Given the description of an element on the screen output the (x, y) to click on. 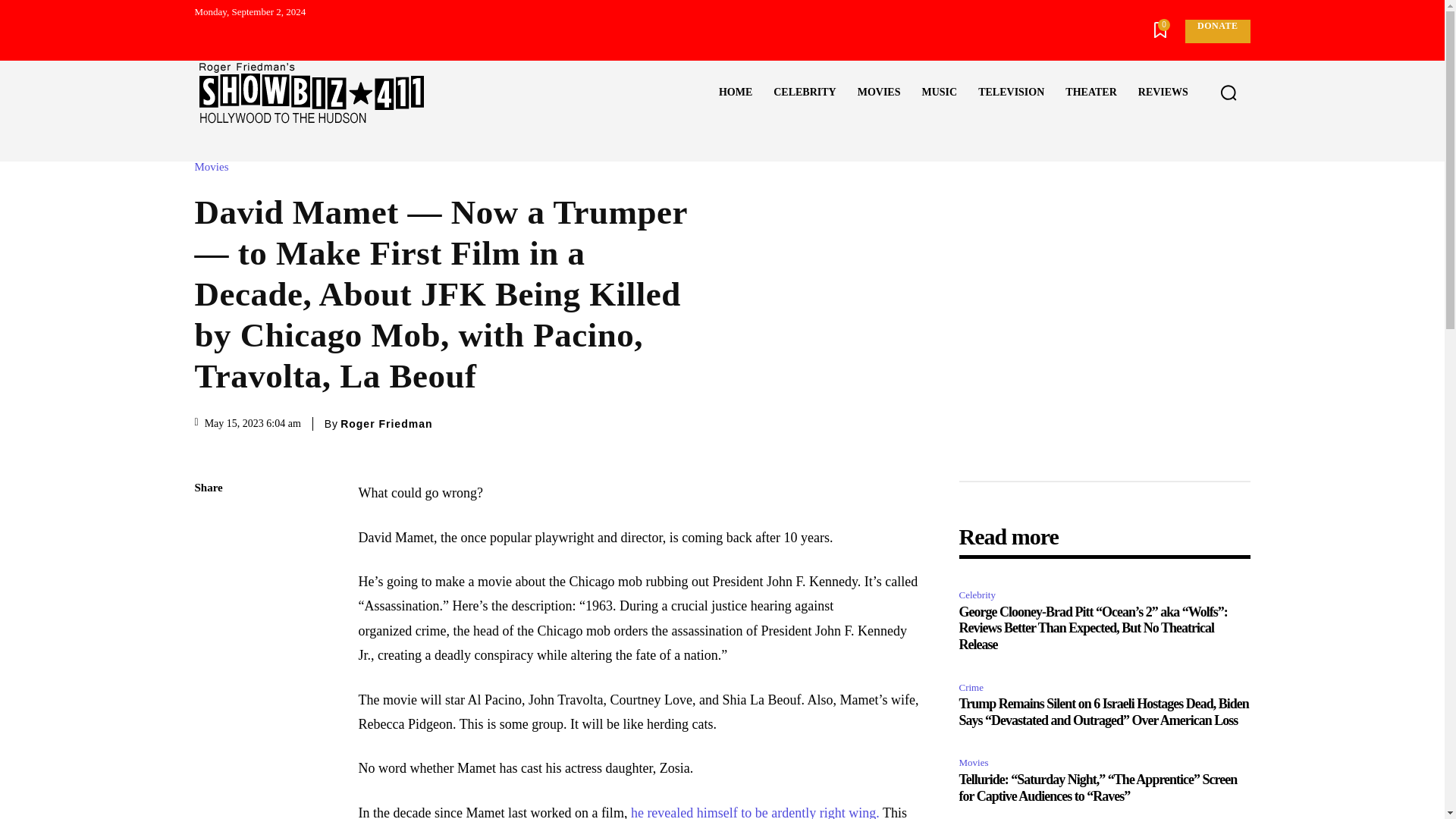
DONATE (1217, 31)
MUSIC (939, 92)
TELEVISION (1011, 92)
HOME (734, 92)
CELEBRITY (803, 92)
Donate (1217, 31)
MOVIES (879, 92)
Movies (214, 166)
THEATER (1090, 92)
REVIEWS (1162, 92)
